Given the description of an element on the screen output the (x, y) to click on. 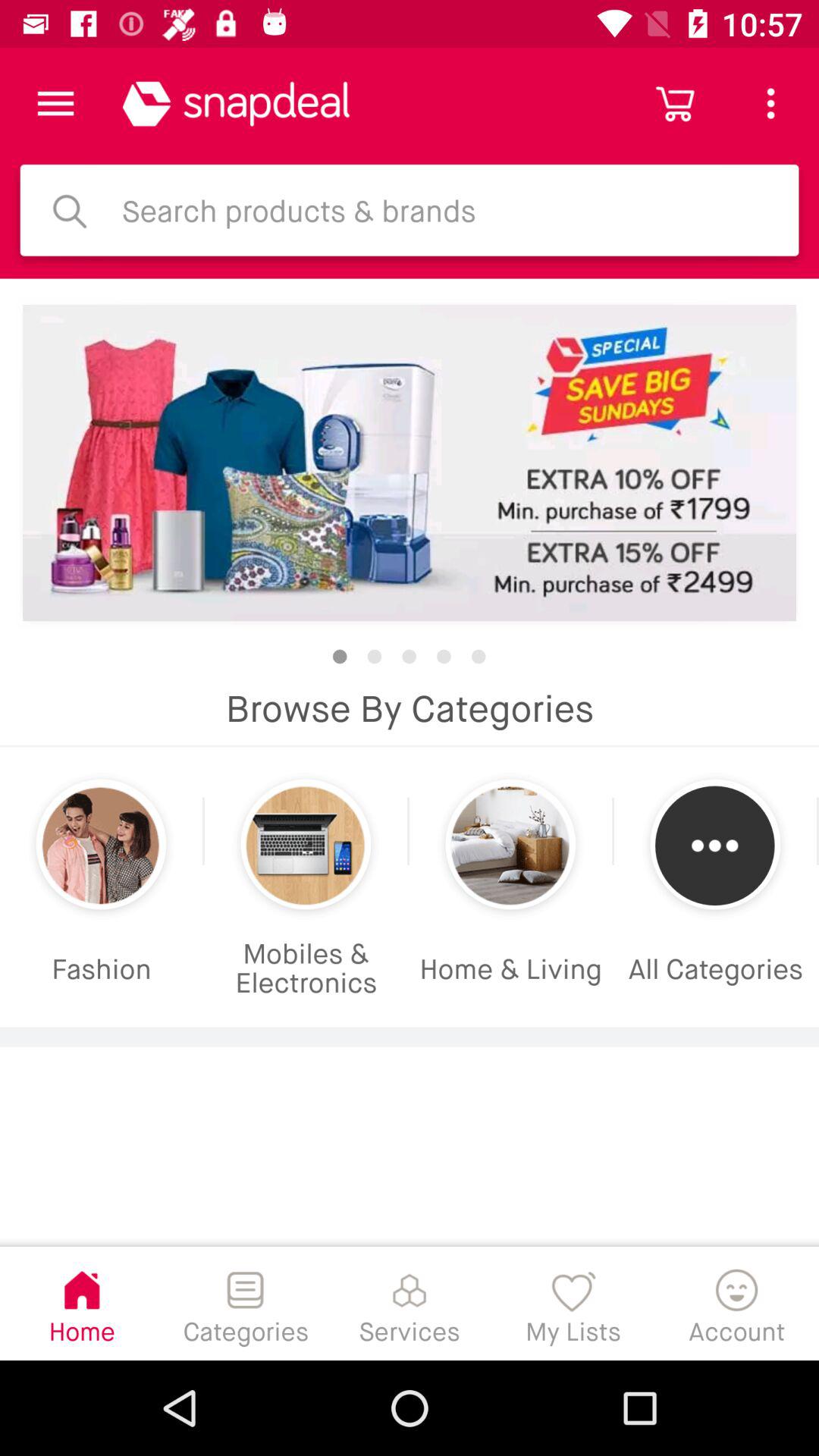
open options (55, 103)
